Given the description of an element on the screen output the (x, y) to click on. 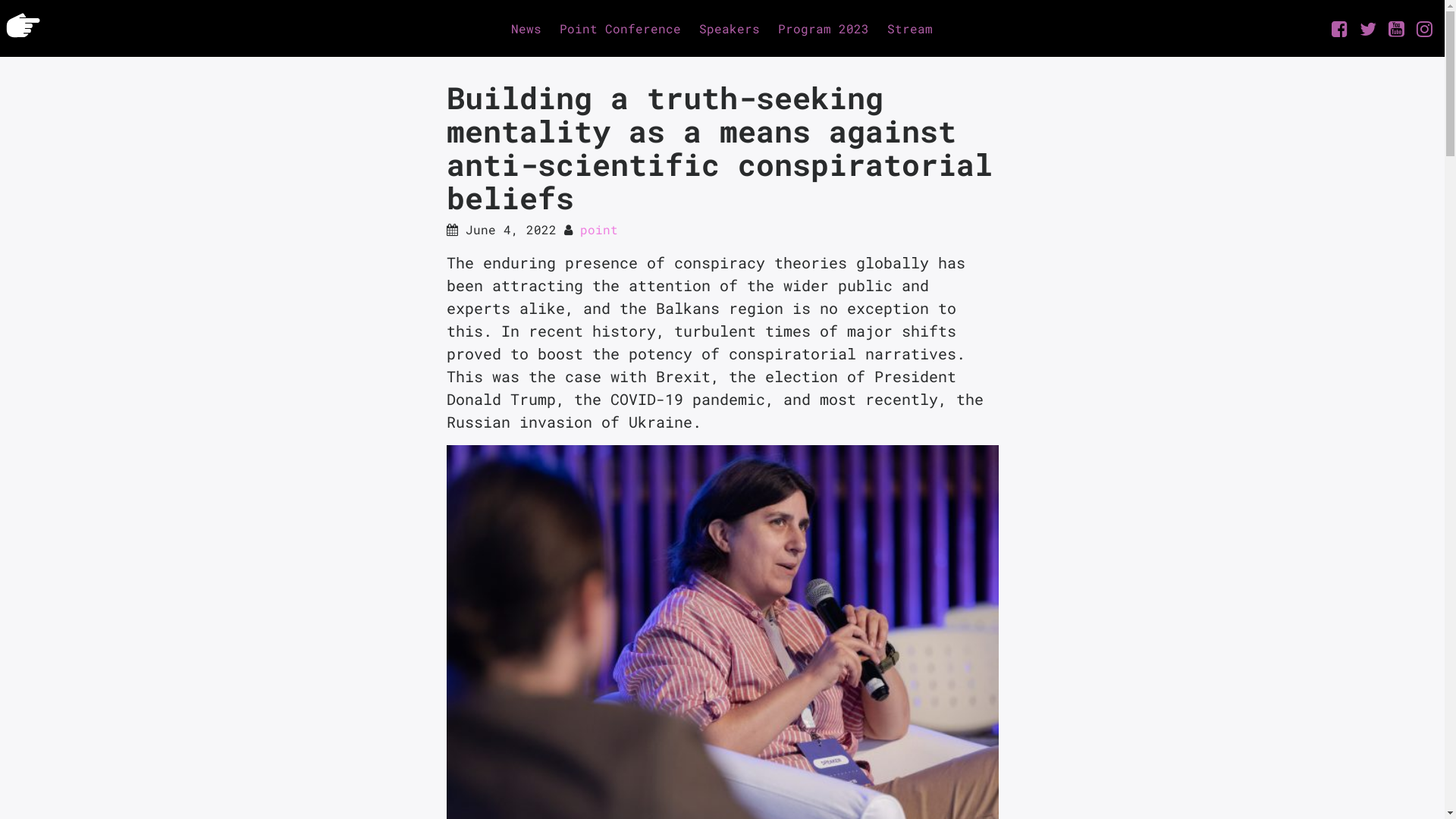
vimeo Element type: hover (1424, 28)
Program 2023 Element type: text (823, 28)
youtube Element type: hover (1396, 28)
twitter Element type: hover (1367, 28)
Speakers Element type: text (729, 28)
Point Conference Element type: text (620, 28)
Stream Element type: text (909, 28)
point Element type: text (598, 229)
News Element type: text (526, 28)
facebook Element type: hover (1339, 28)
